Given the description of an element on the screen output the (x, y) to click on. 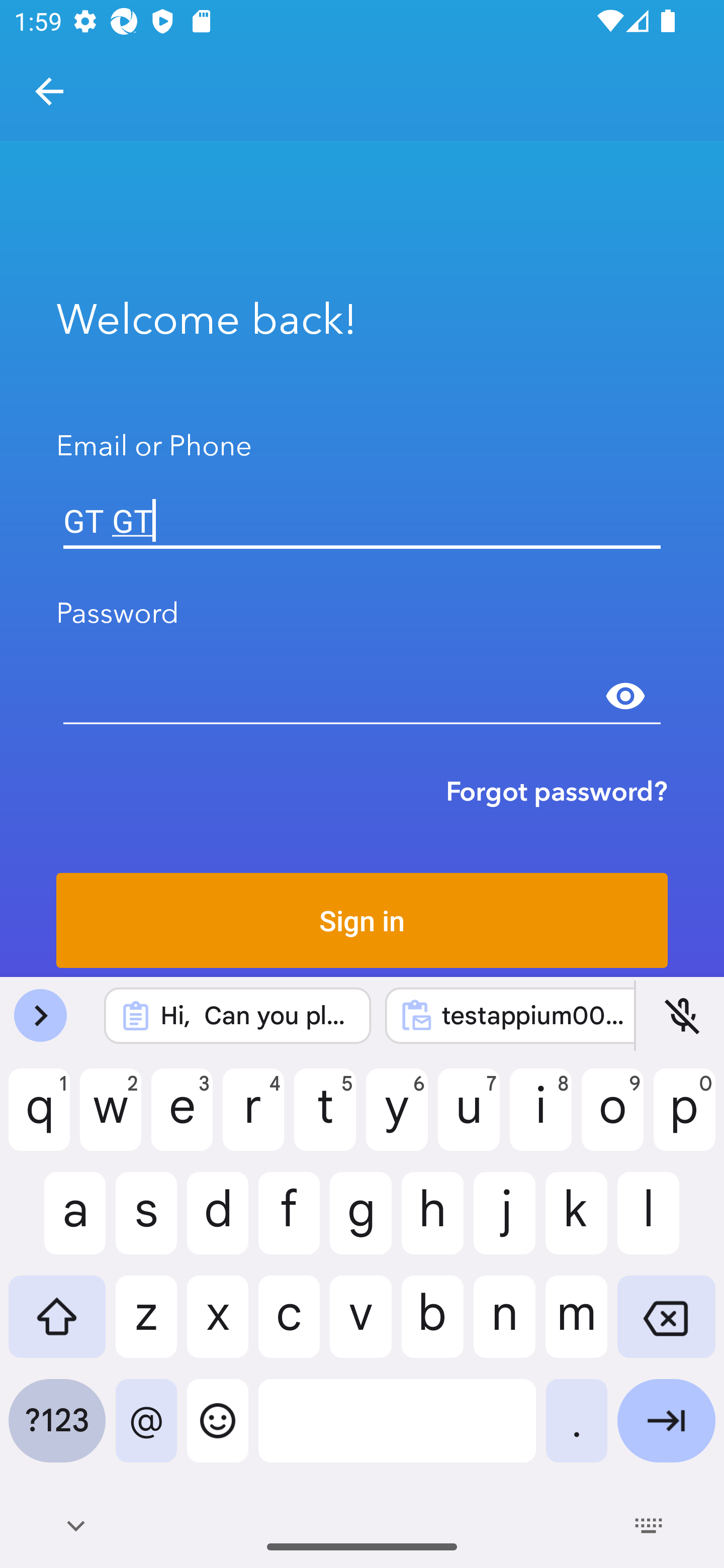
Navigate up (49, 91)
GT GT (361, 521)
Show password (625, 695)
Forgot password? (556, 790)
Sign in (361, 920)
